Given the description of an element on the screen output the (x, y) to click on. 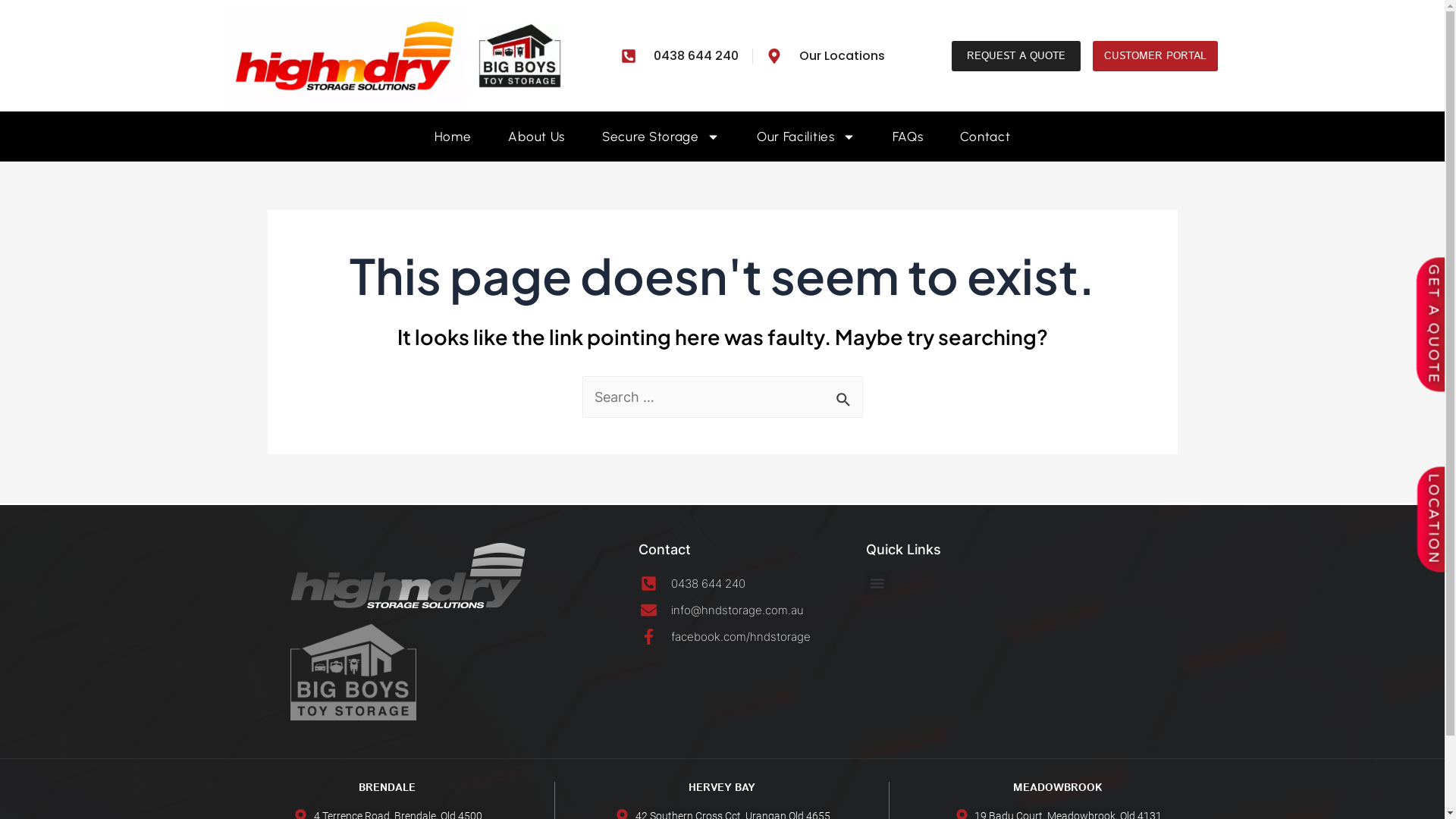
Search Element type: text (845, 393)
0438 644 240 Element type: text (749, 583)
CUSTOMER PORTAL Element type: text (1154, 55)
facebook.com/hndstorage Element type: text (749, 636)
Secure Storage Element type: text (660, 136)
REQUEST A QUOTE Element type: text (1015, 55)
Our Facilities Element type: text (805, 136)
0438 644 240 Element type: text (679, 55)
info@hndstorage.com.au Element type: text (749, 610)
Home Element type: text (453, 136)
Contact Element type: text (984, 136)
Our Locations Element type: text (825, 55)
About Us Element type: text (536, 136)
FAQs Element type: text (908, 136)
